Given the description of an element on the screen output the (x, y) to click on. 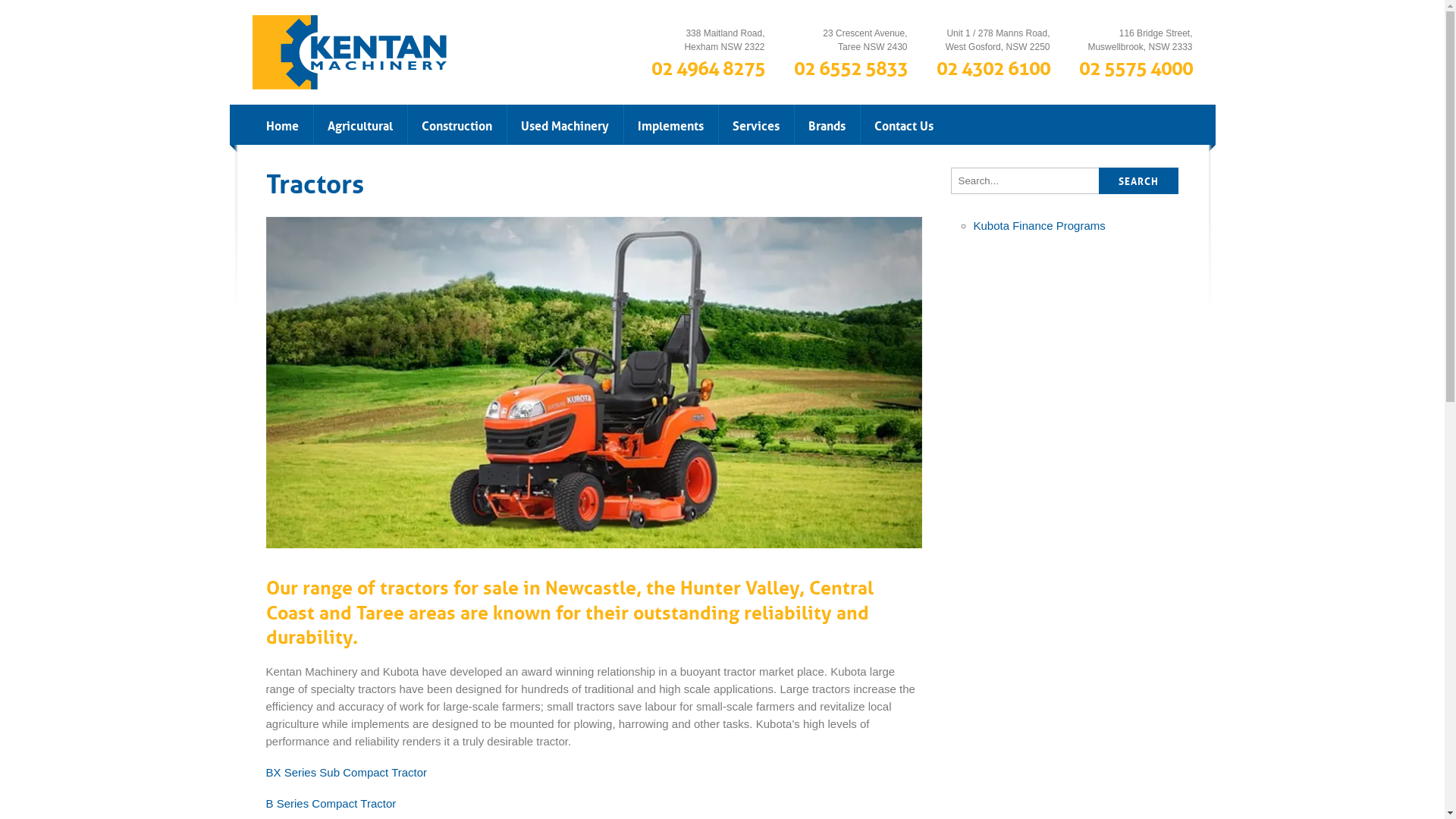
Used Machinery Element type: text (564, 124)
SEARCH Element type: text (1138, 180)
02 5575 4000 Element type: text (1135, 65)
Home Element type: text (281, 124)
Brands Element type: text (826, 124)
Kubota Finance Programs Element type: text (1039, 225)
BX Series Sub Compact Tractor Element type: text (345, 771)
Construction Element type: text (455, 124)
Implements Element type: text (670, 124)
Agricultural Element type: text (359, 124)
Kentan Machinery Element type: text (348, 52)
02 4302 6100 Element type: text (992, 65)
Services Element type: text (755, 124)
B Series Compact Tractor Element type: text (330, 803)
02 4964 8275 Element type: text (707, 65)
02 6552 5833 Element type: text (849, 65)
Contact Us Element type: text (903, 124)
